Given the description of an element on the screen output the (x, y) to click on. 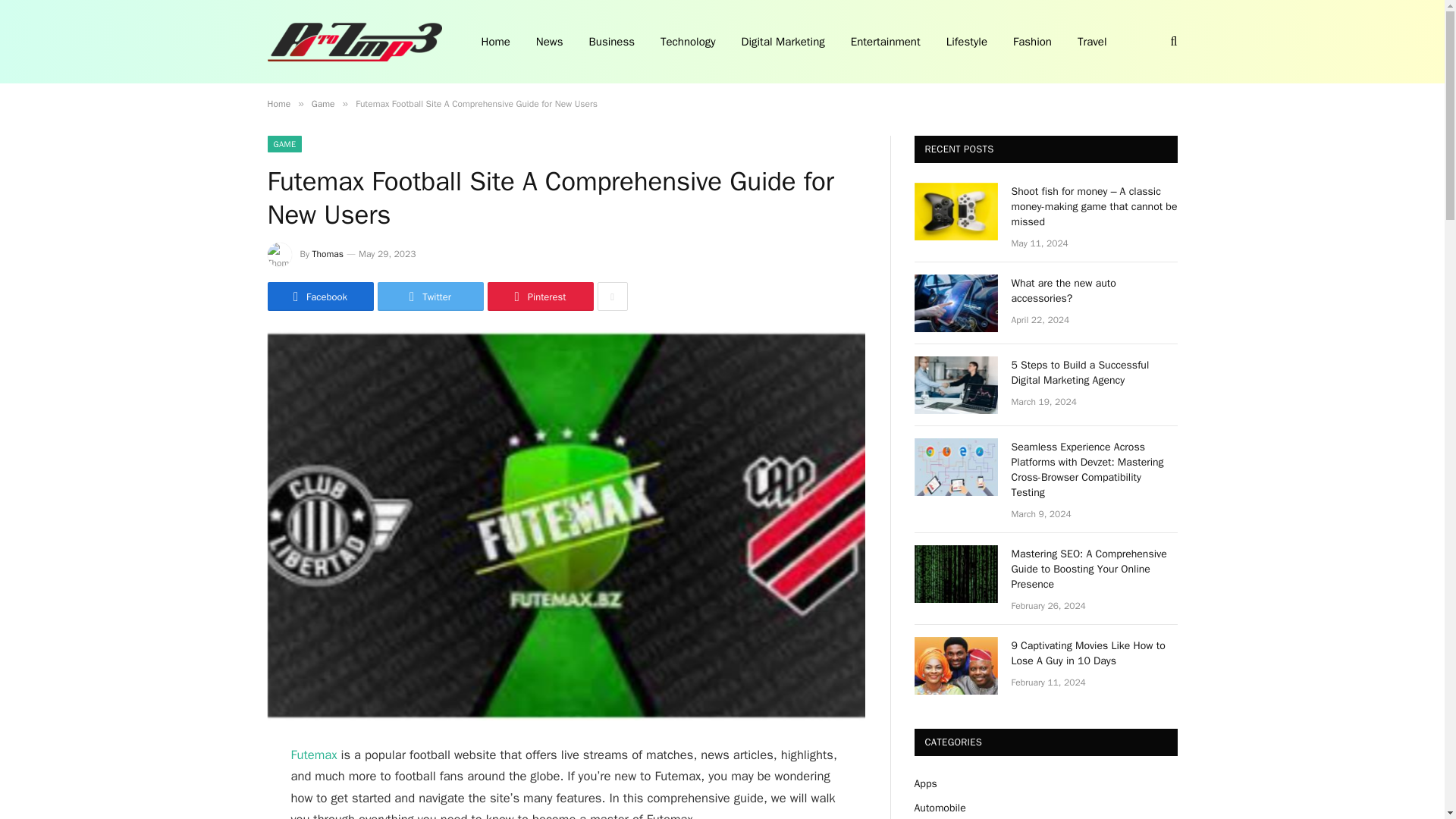
Game (322, 103)
Facebook (319, 296)
Posts by Thomas (328, 254)
Share on Facebook (319, 296)
Digital Marketing (783, 41)
Share on Pinterest (539, 296)
Twitter (430, 296)
Home (277, 103)
Pinterest (539, 296)
Thomas (328, 254)
Atozmp3 (353, 41)
Entertainment (885, 41)
Show More Social Sharing (611, 296)
GAME (283, 143)
